Given the description of an element on the screen output the (x, y) to click on. 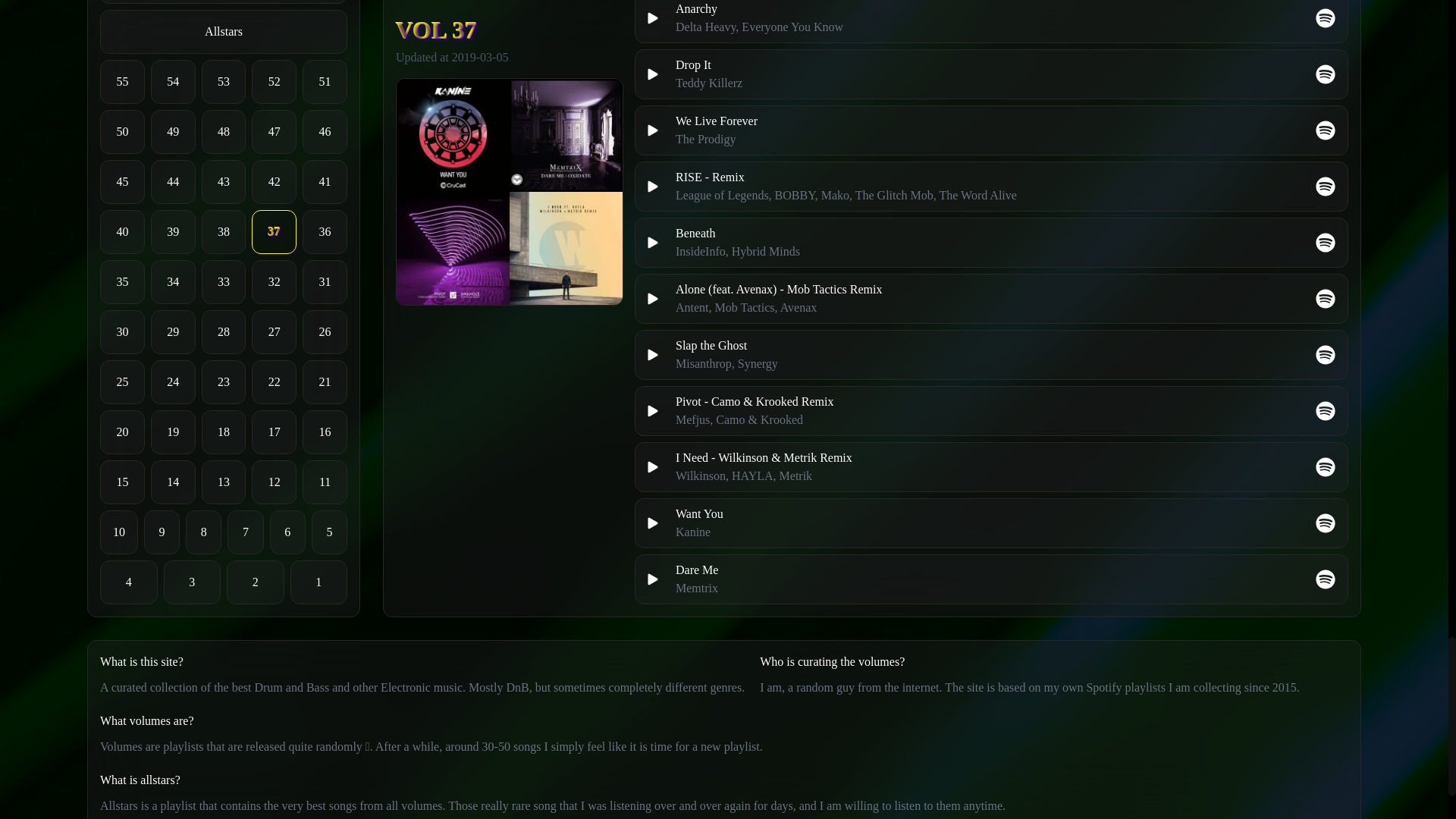
Open in Spotify (1325, 298)
Open in Spotify (1325, 17)
Open in Spotify (1325, 410)
Open in Spotify (1325, 466)
Open in Spotify (1325, 523)
Open in Spotify (1325, 578)
Open in Spotify (1325, 130)
Open in Spotify (1325, 74)
Open in Spotify (1325, 354)
Open in Spotify (1325, 242)
Open in Spotify (1325, 186)
